Given the description of an element on the screen output the (x, y) to click on. 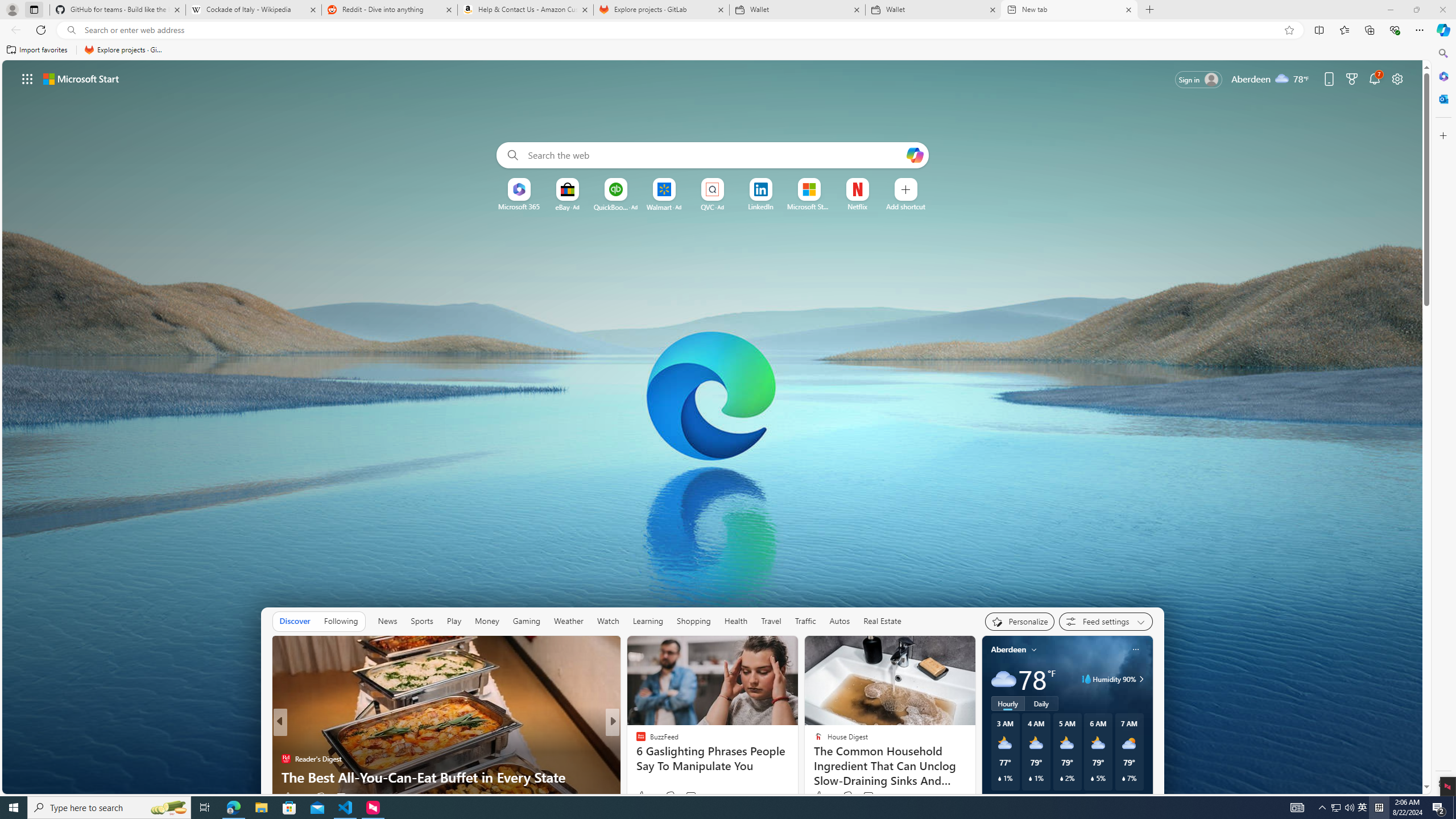
Real Estate (882, 621)
Microsoft Edge - 1 running window (233, 807)
Notifications (1374, 78)
Notification Chevron (1322, 807)
User Promoted Notification Area (1342, 807)
Health (735, 621)
Discover (294, 621)
Open Copilot (914, 154)
Shopping (693, 621)
Action Center, 2 new notifications (1439, 807)
Microsoft Start (809, 206)
GameRant (635, 758)
